Given the description of an element on the screen output the (x, y) to click on. 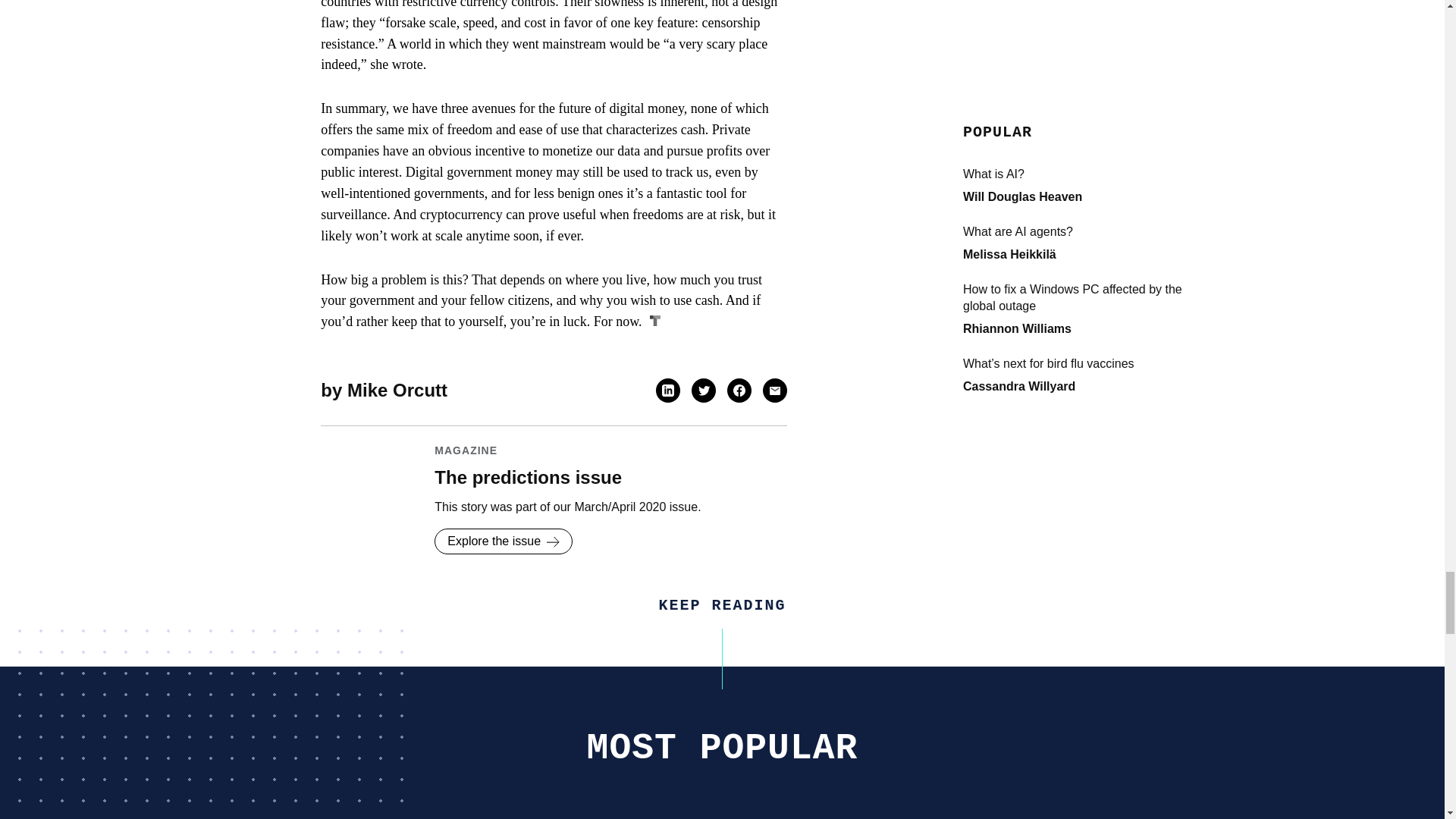
Share story on twitter (703, 390)
Mike Orcutt (396, 390)
Share story on linkedin (668, 390)
